Given the description of an element on the screen output the (x, y) to click on. 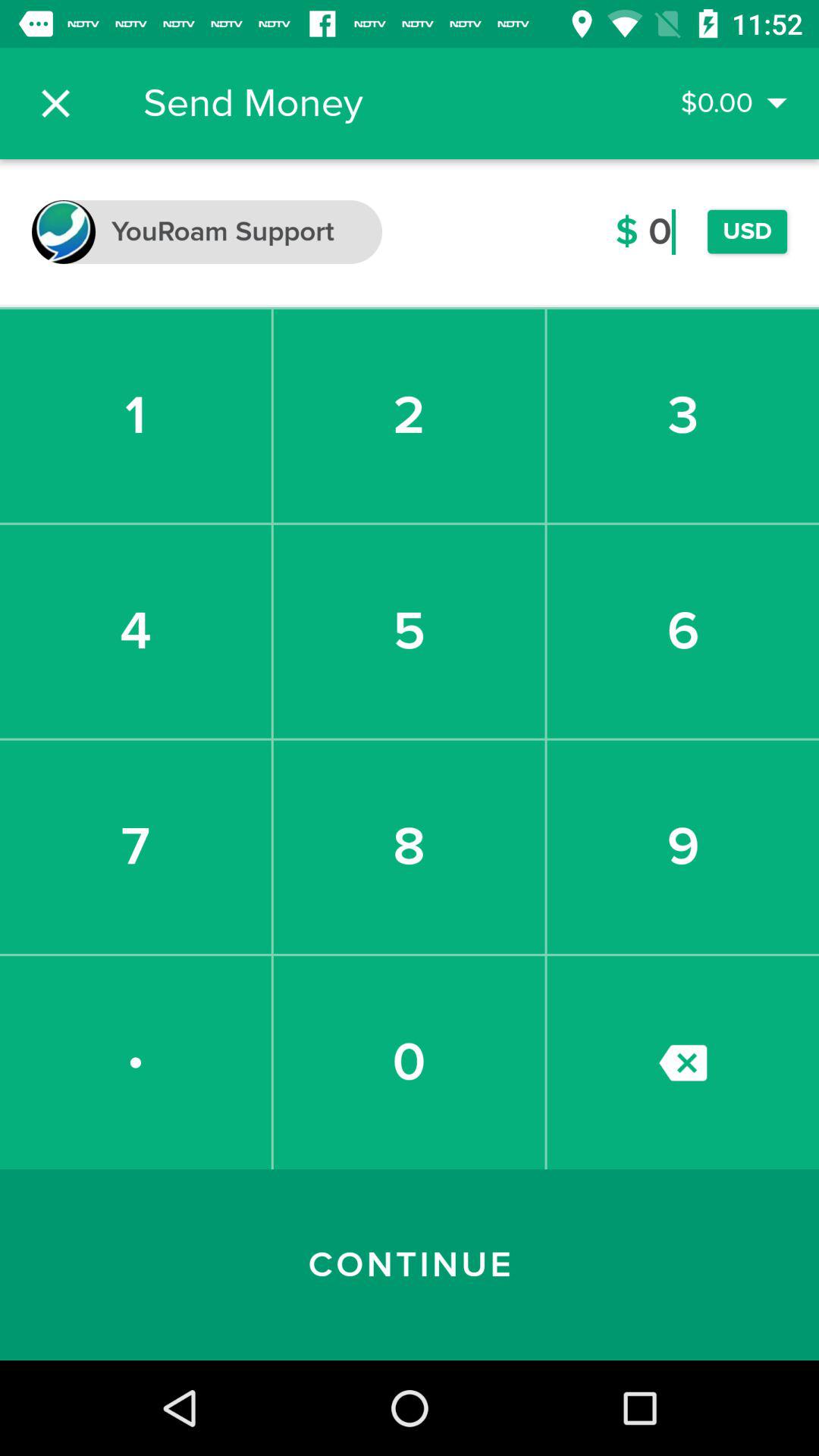
swipe to the 1 icon (135, 415)
